Given the description of an element on the screen output the (x, y) to click on. 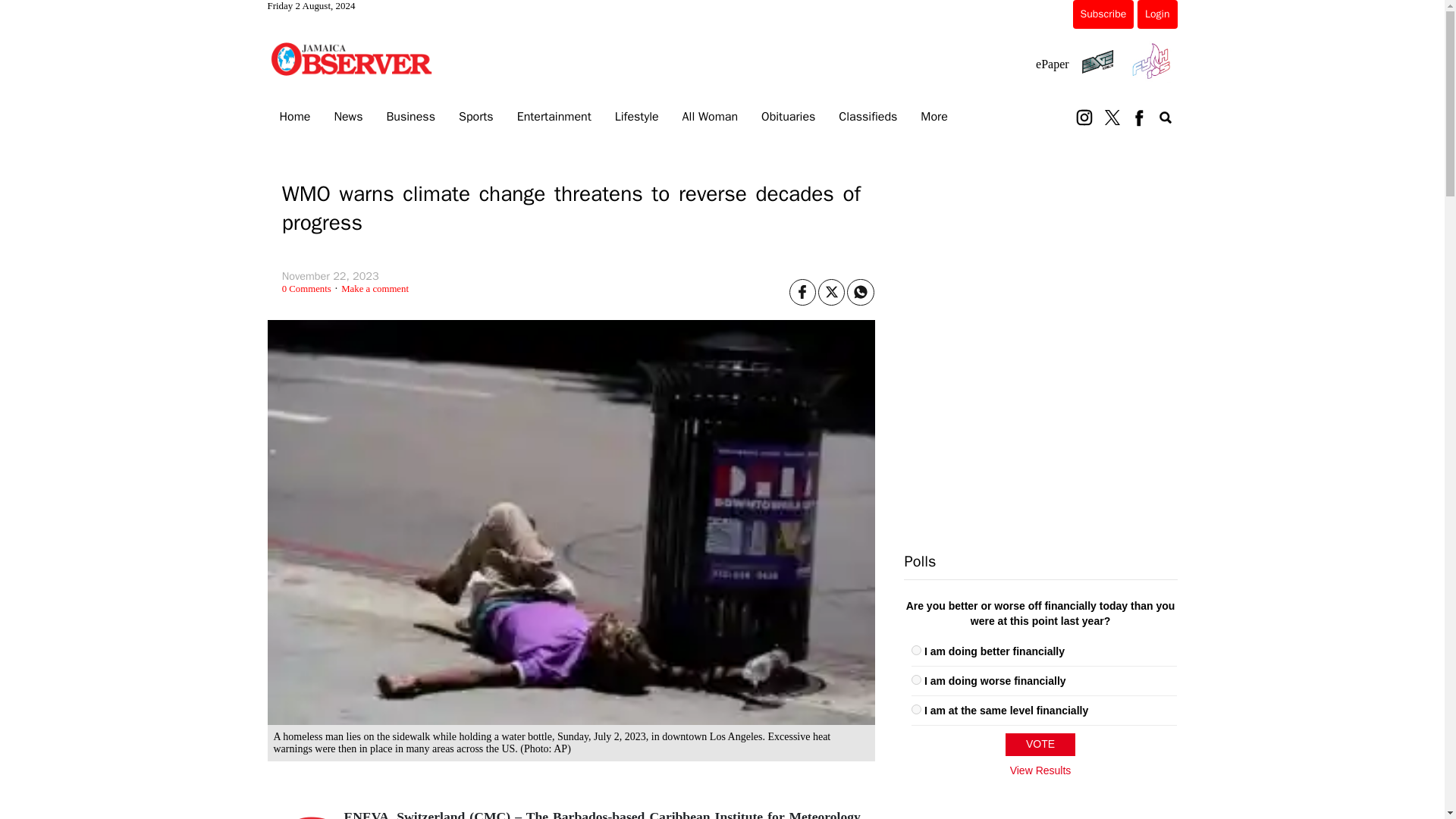
Subscribe (1103, 14)
ePaper (1051, 64)
Login (1156, 14)
